Given the description of an element on the screen output the (x, y) to click on. 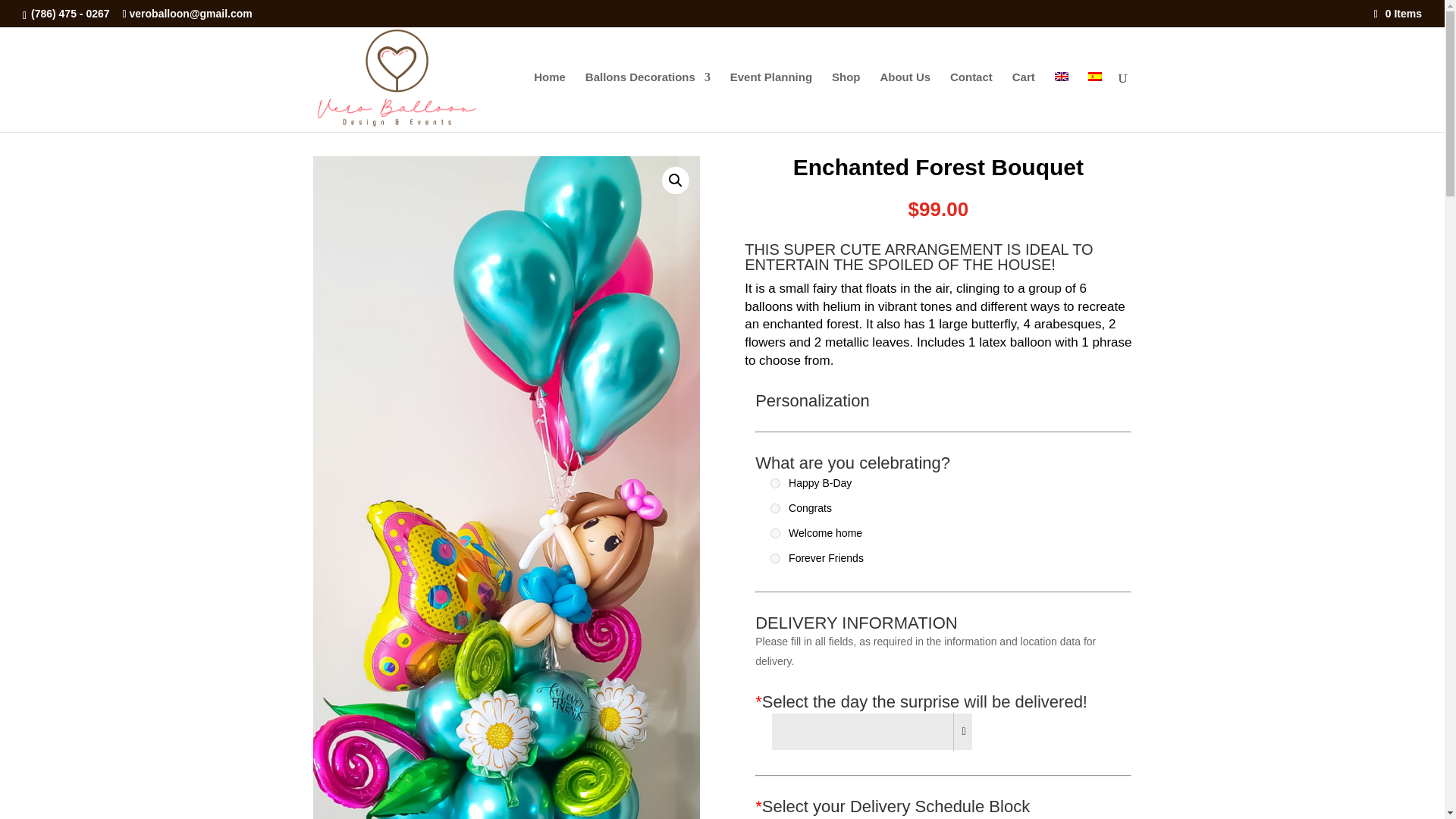
Balloon Bouquets (385, 136)
Ballons Decorations (647, 101)
Event Planning (771, 101)
Home (325, 136)
0 Items (1398, 13)
